Given the description of an element on the screen output the (x, y) to click on. 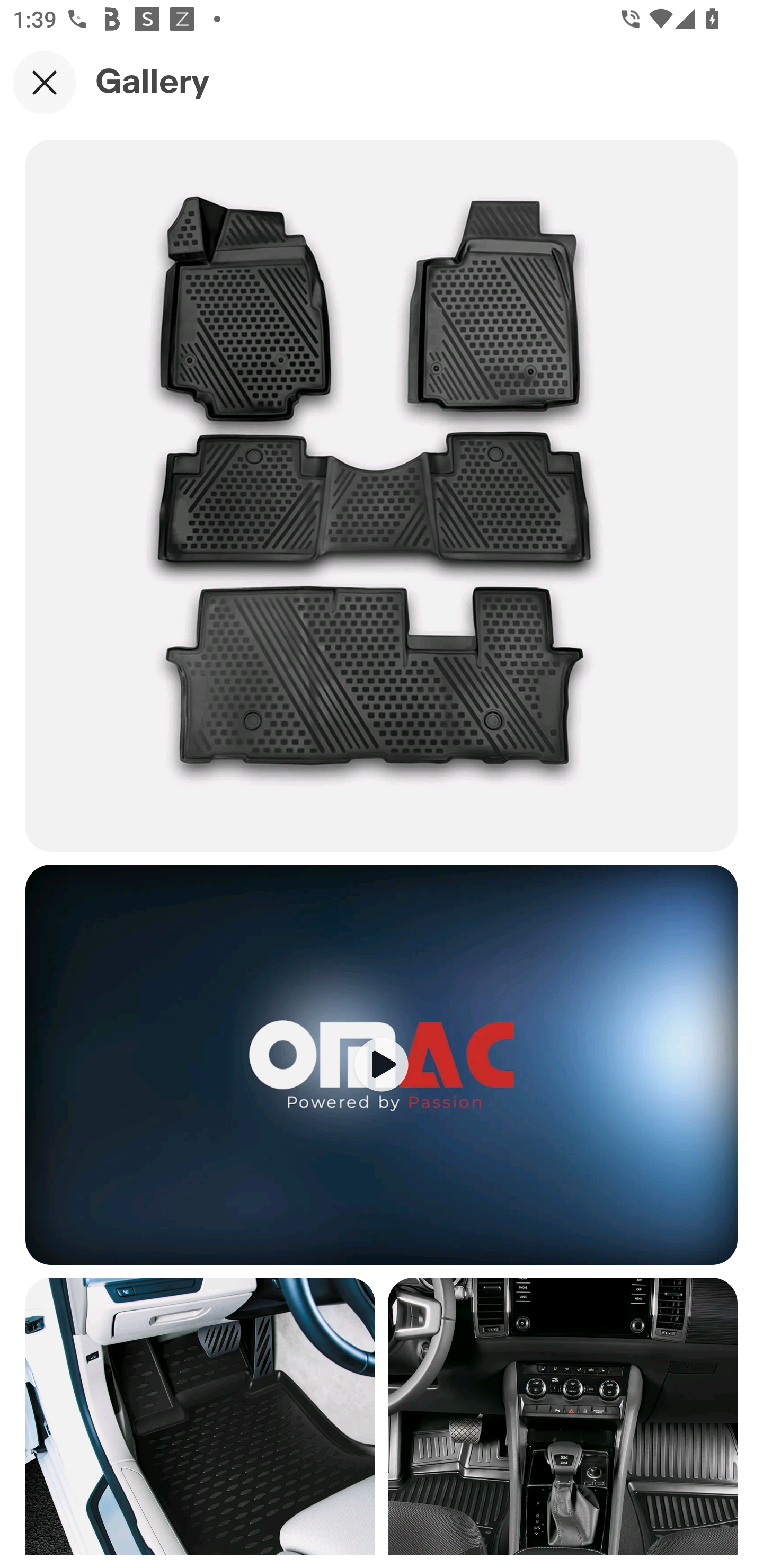
Close (44, 82)
Item image 1 of 13 (381, 495)
Item image 2 of 13, plays video (381, 1064)
Item image 3 of 13 (200, 1416)
Item image 4 of 13 (562, 1416)
